Given the description of an element on the screen output the (x, y) to click on. 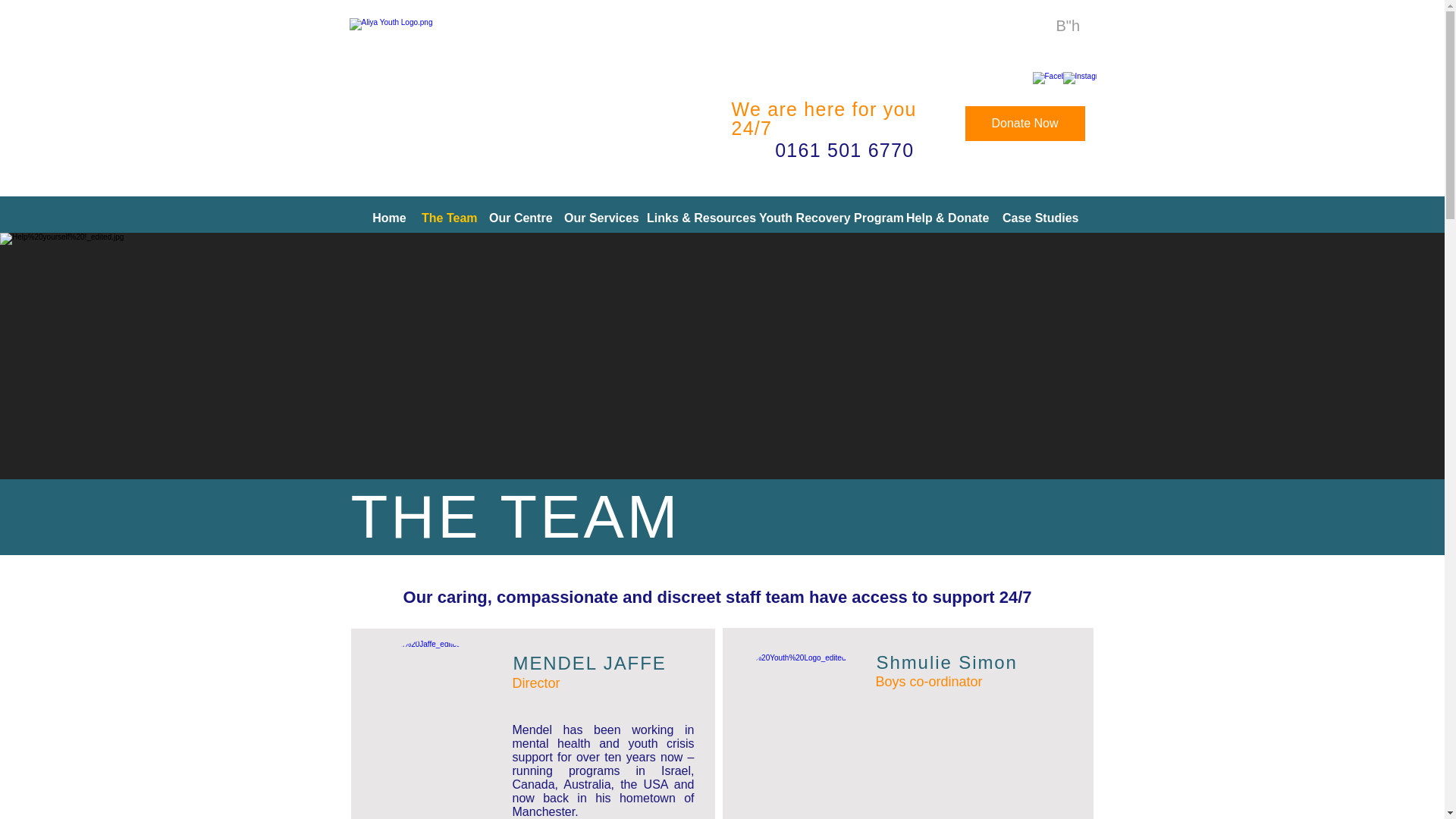
The Team (447, 218)
Case Studies (1037, 218)
Donate Now (1023, 123)
Youth Recovery Program (824, 218)
Our Centre (518, 218)
THE TEAM (514, 516)
Home (389, 218)
Our Services (597, 218)
